Given the description of an element on the screen output the (x, y) to click on. 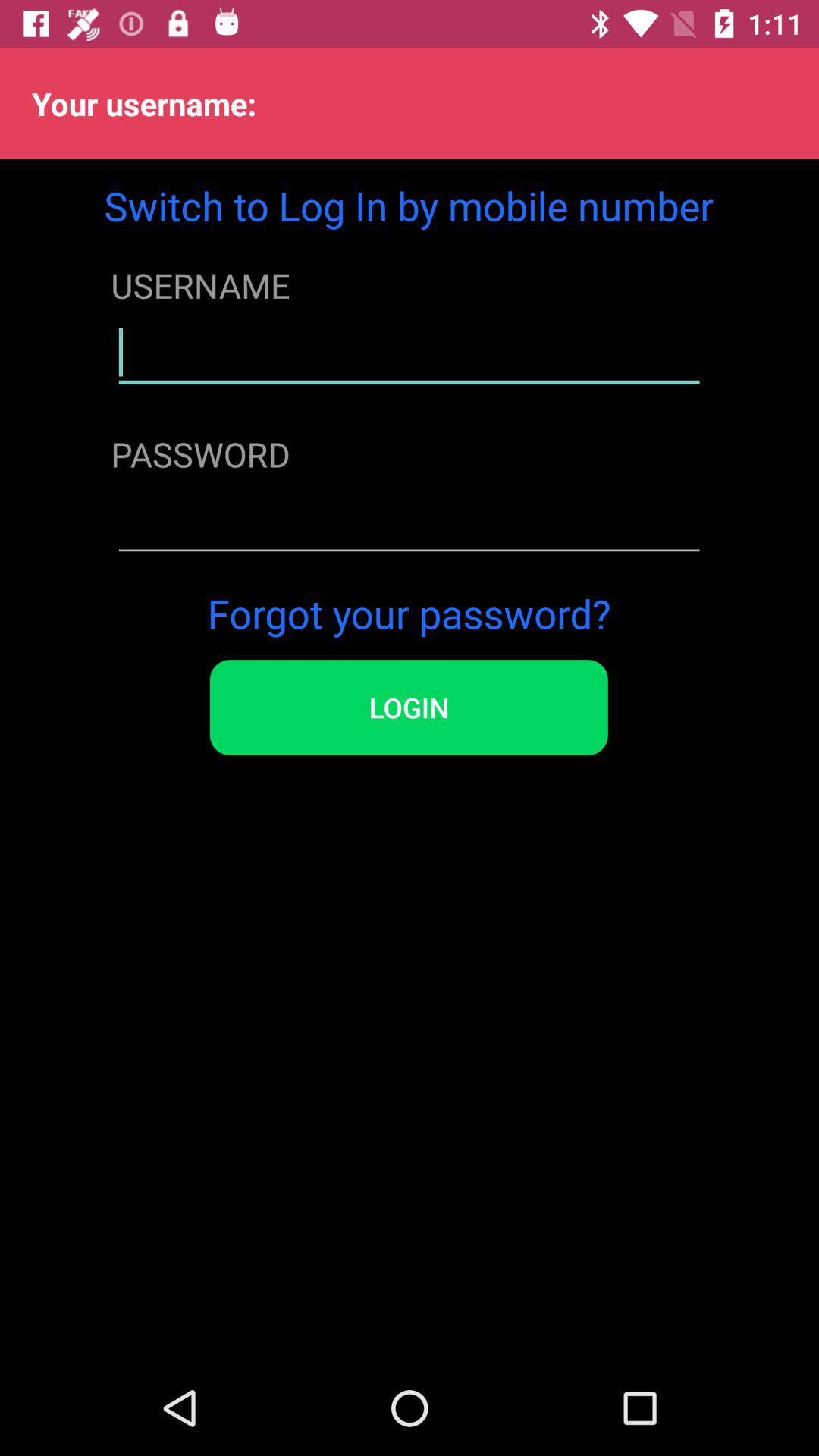
open item above the login (408, 612)
